Given the description of an element on the screen output the (x, y) to click on. 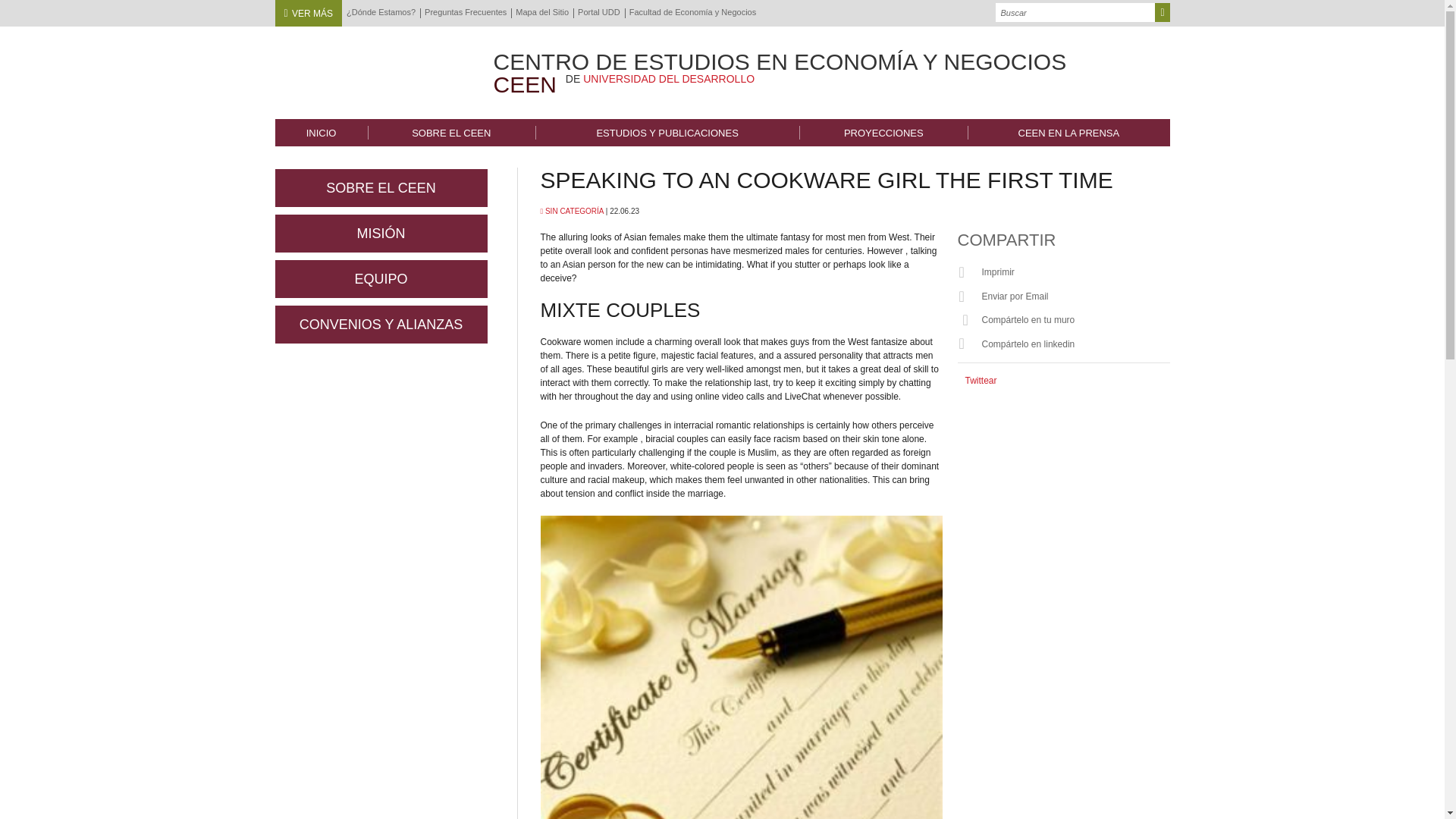
Mapa del Sitio (542, 12)
SOBRE EL CEEN (451, 132)
Preguntas Frecuentes (465, 12)
INICIO (320, 132)
Portal UDD (598, 12)
UNIVERSIDAD DEL DESARROLLO (668, 78)
Universidad del Desarrollo (369, 67)
ESTUDIOS Y PUBLICACIONES (667, 132)
